Given the description of an element on the screen output the (x, y) to click on. 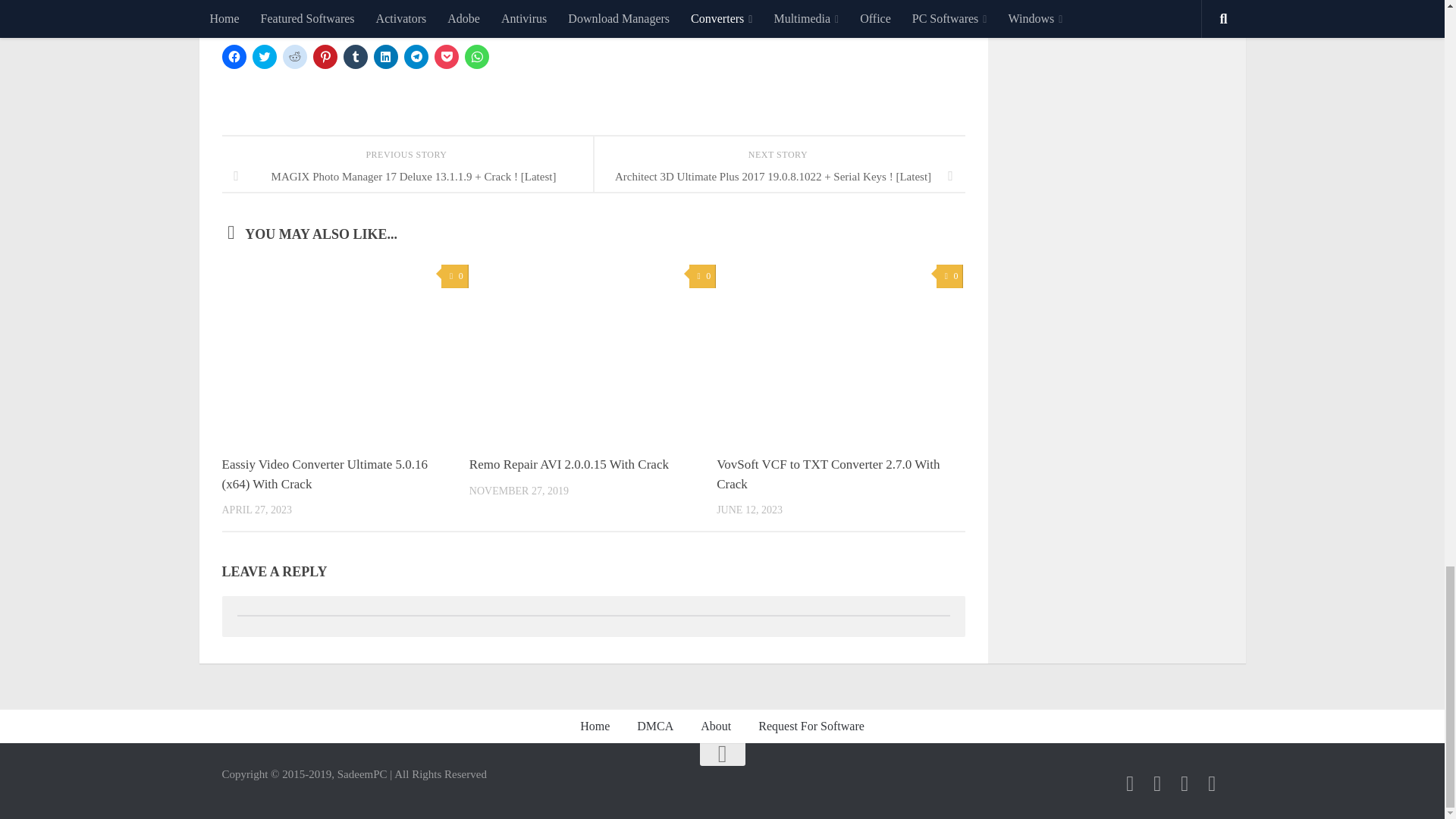
Click to share on Pinterest (324, 56)
Click to share on Facebook (233, 56)
Click to share on Twitter (263, 56)
Click to share on Tumblr (354, 56)
Click to share on Pocket (445, 56)
Click to share on Telegram (415, 56)
Click to share on Reddit (293, 56)
Click to share on WhatsApp (475, 56)
Click to share on LinkedIn (384, 56)
